Given the description of an element on the screen output the (x, y) to click on. 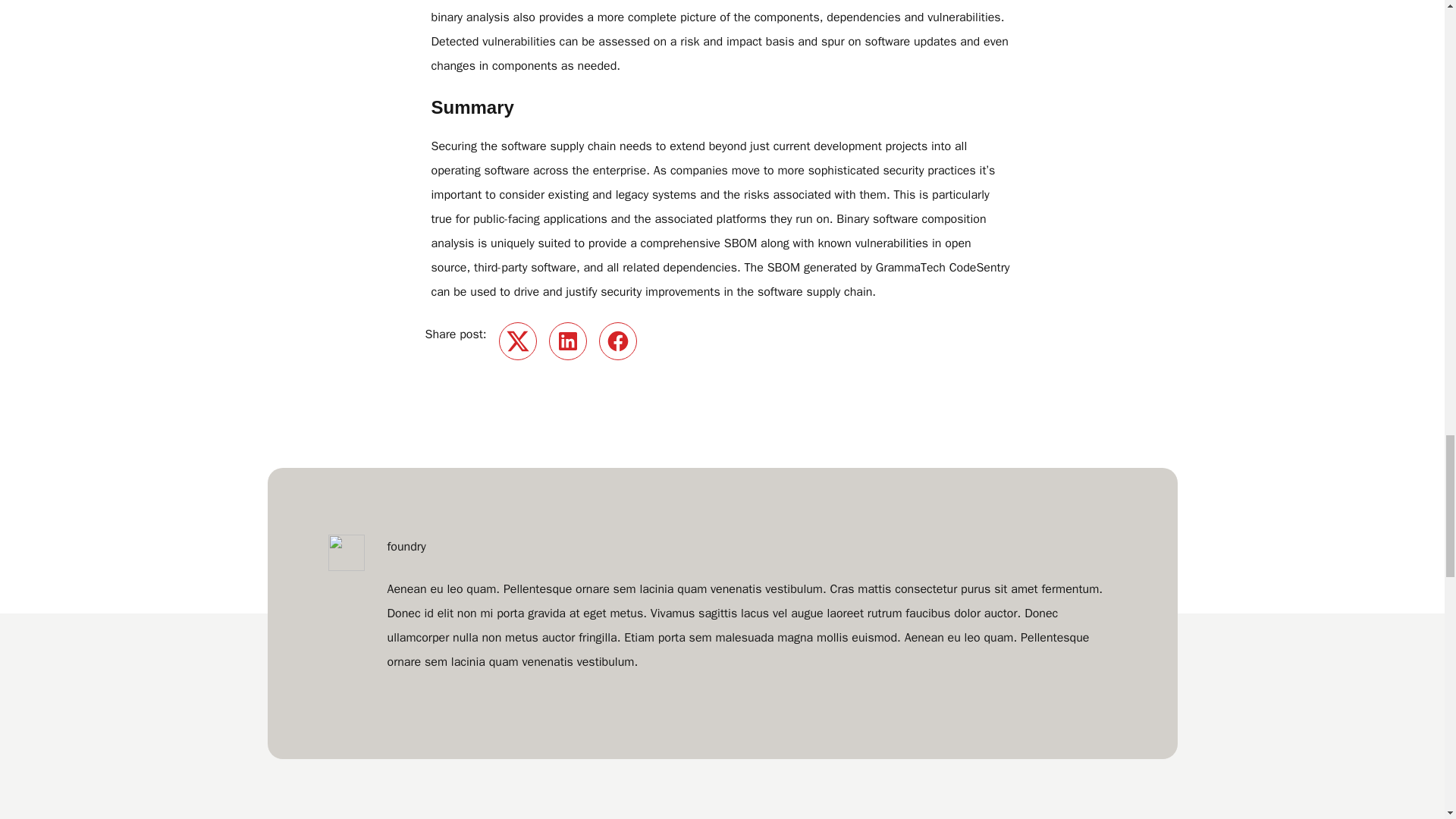
Facebook (617, 341)
Twitter (518, 341)
LinkedIn (567, 341)
